Given the description of an element on the screen output the (x, y) to click on. 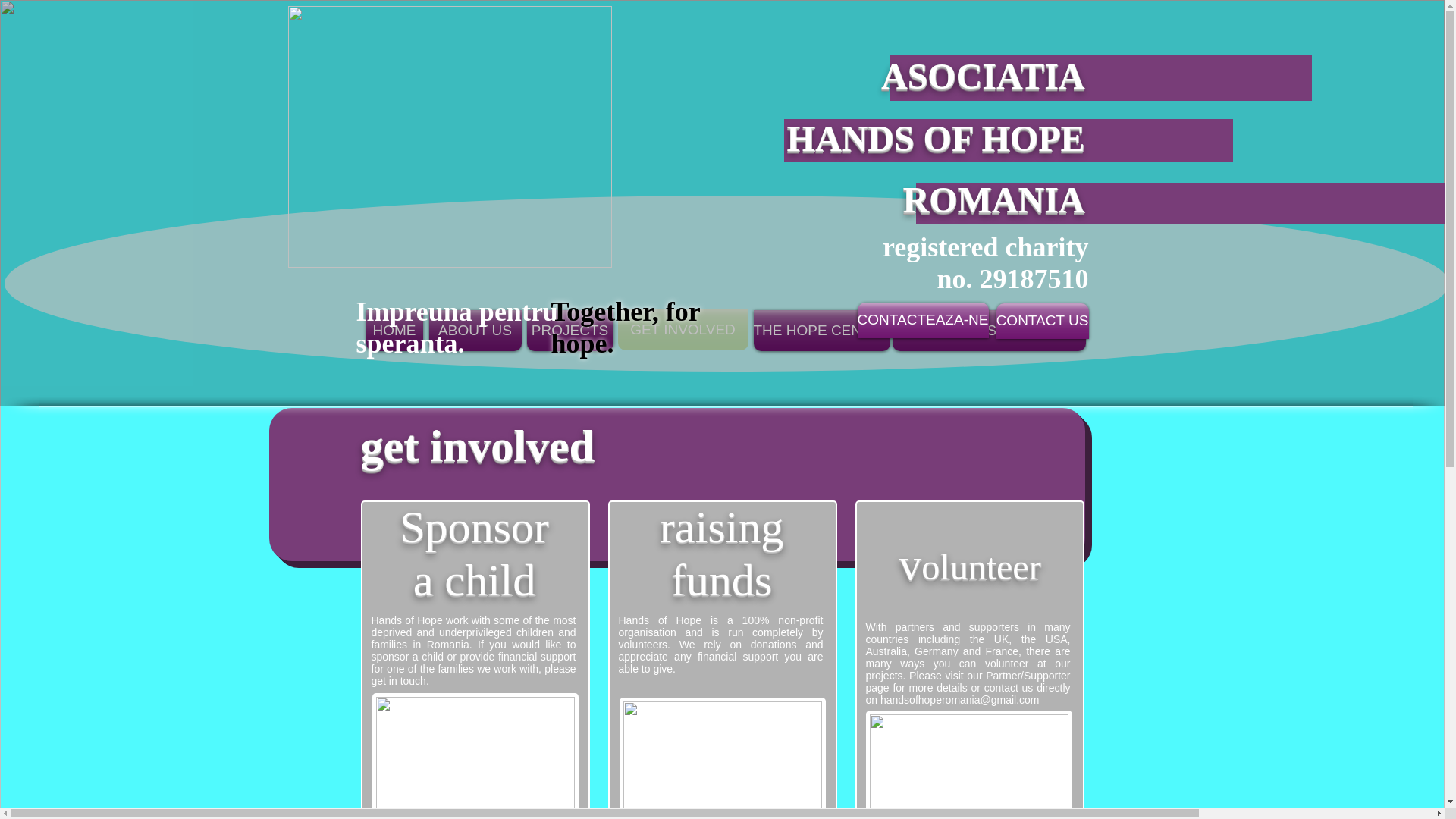
CONTACTEAZA-NE (922, 320)
THE HOPE CENTRE (822, 330)
PROJECTS (568, 330)
CONTACT US (1042, 321)
GET INVOLVED (682, 329)
HOME (393, 330)
ABOUT US (475, 330)
